Given the description of an element on the screen output the (x, y) to click on. 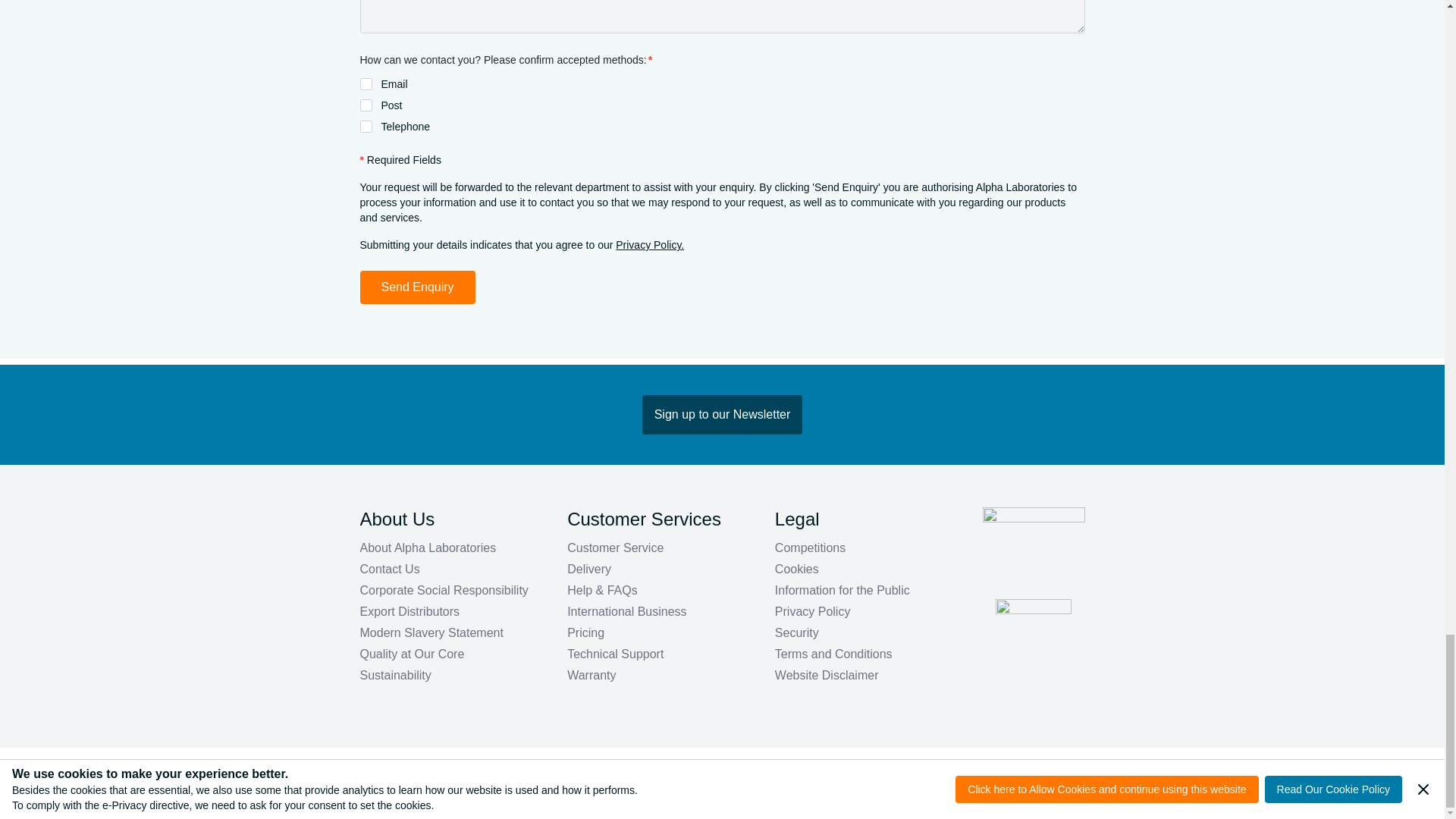
Yes (365, 126)
Yes (365, 83)
Yes (365, 105)
